Given the description of an element on the screen output the (x, y) to click on. 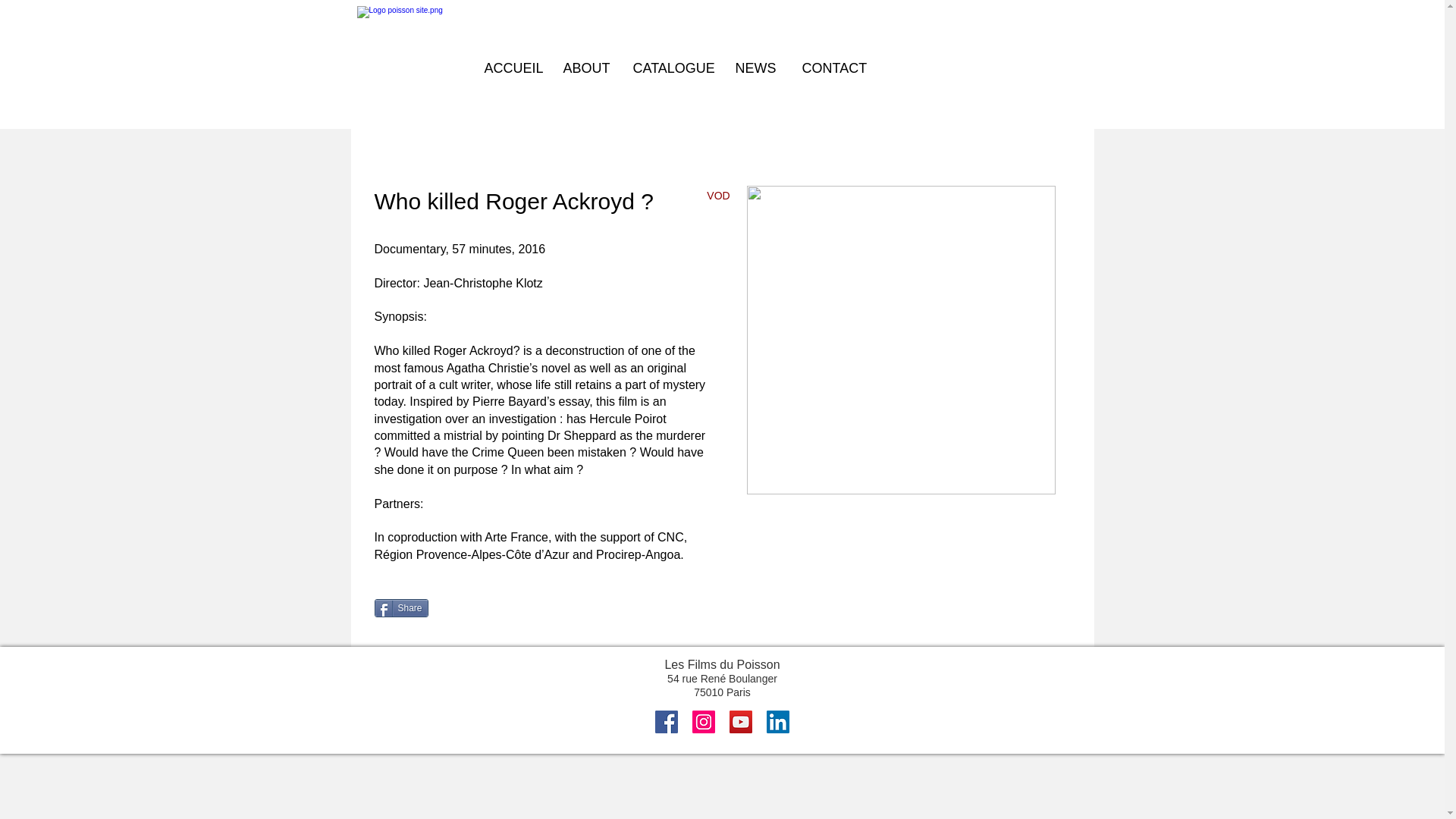
ACCUEIL (512, 67)
ABOUT (586, 67)
NEWS (756, 67)
Share (401, 607)
Share (401, 607)
CATALOGUE (672, 67)
CONTACT (834, 67)
VOD (717, 196)
Accueil - Les Films du Poisson (412, 61)
